Given the description of an element on the screen output the (x, y) to click on. 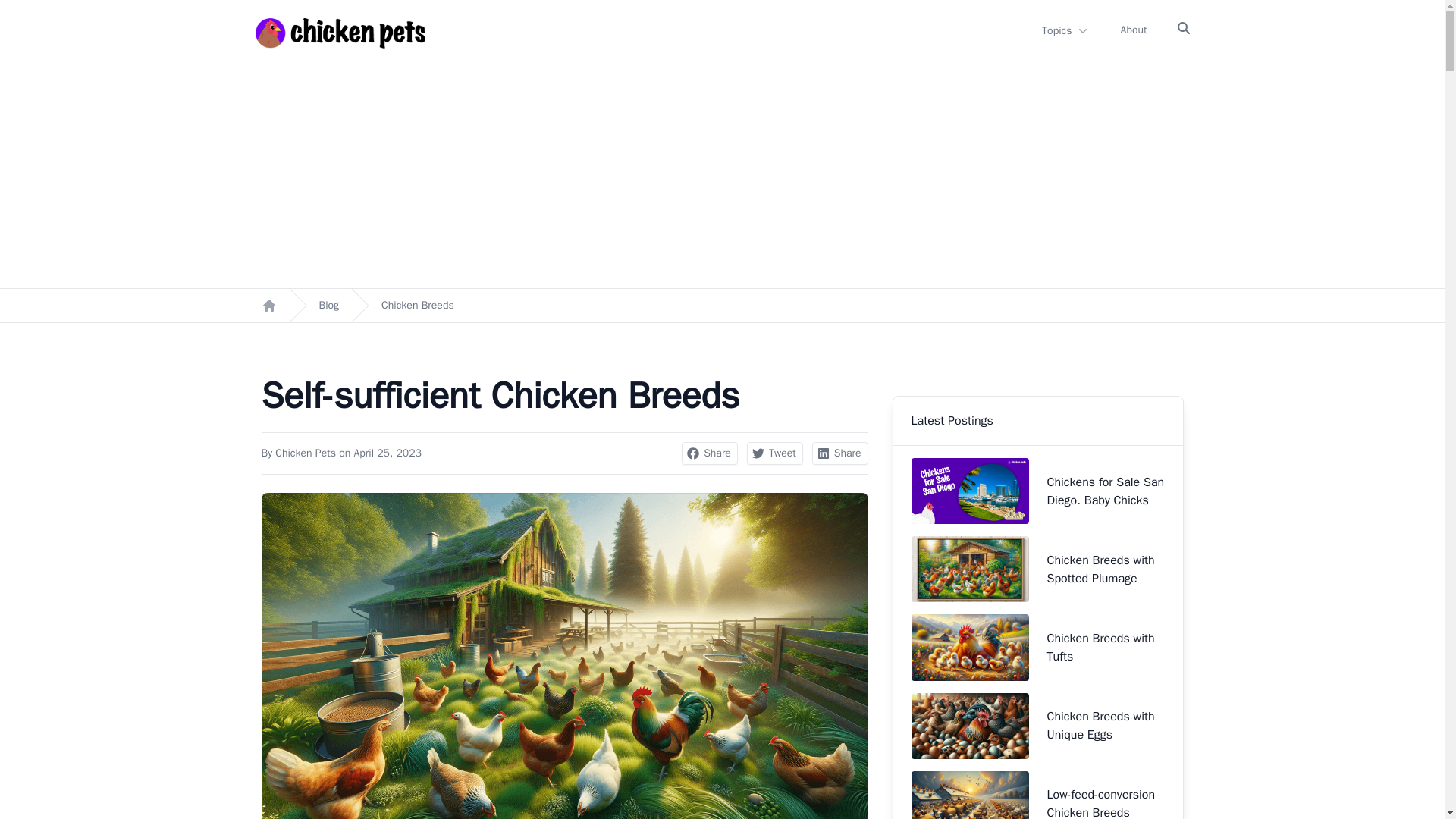
Chickenpets.com Backyard Chickens (268, 305)
Topics (1065, 30)
Chickens for Sale San Diego. Baby Chicks (1037, 490)
About (1134, 29)
Chicken Pets Blog (328, 305)
Share (709, 453)
Chickens for Sale San Diego. Baby Chicks (1037, 490)
Chicken Pets (305, 452)
Chicken Breeds with Tufts (1037, 647)
Chicken Breeds (417, 305)
Chicken Breeds with Unique Eggs (1037, 725)
Low-feed-conversion Chicken Breeds (1037, 791)
Chicken Breeds with Spotted Plumage (1037, 568)
Blog (328, 305)
